Given the description of an element on the screen output the (x, y) to click on. 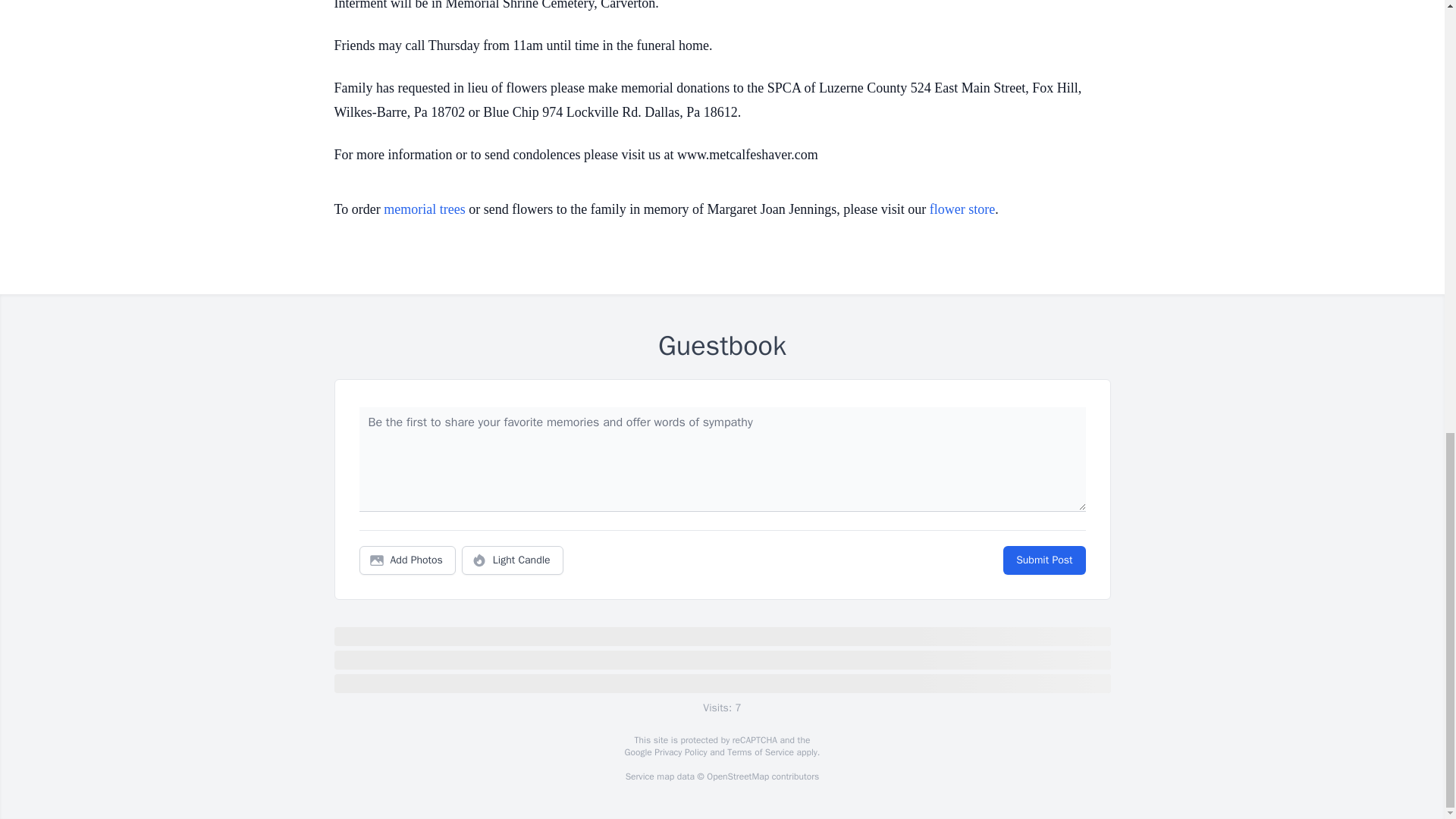
flower store (962, 209)
Light Candle (512, 560)
OpenStreetMap (737, 776)
Privacy Policy (679, 752)
Add Photos (407, 560)
Terms of Service (759, 752)
memorial trees (424, 209)
Submit Post (1043, 560)
